Given the description of an element on the screen output the (x, y) to click on. 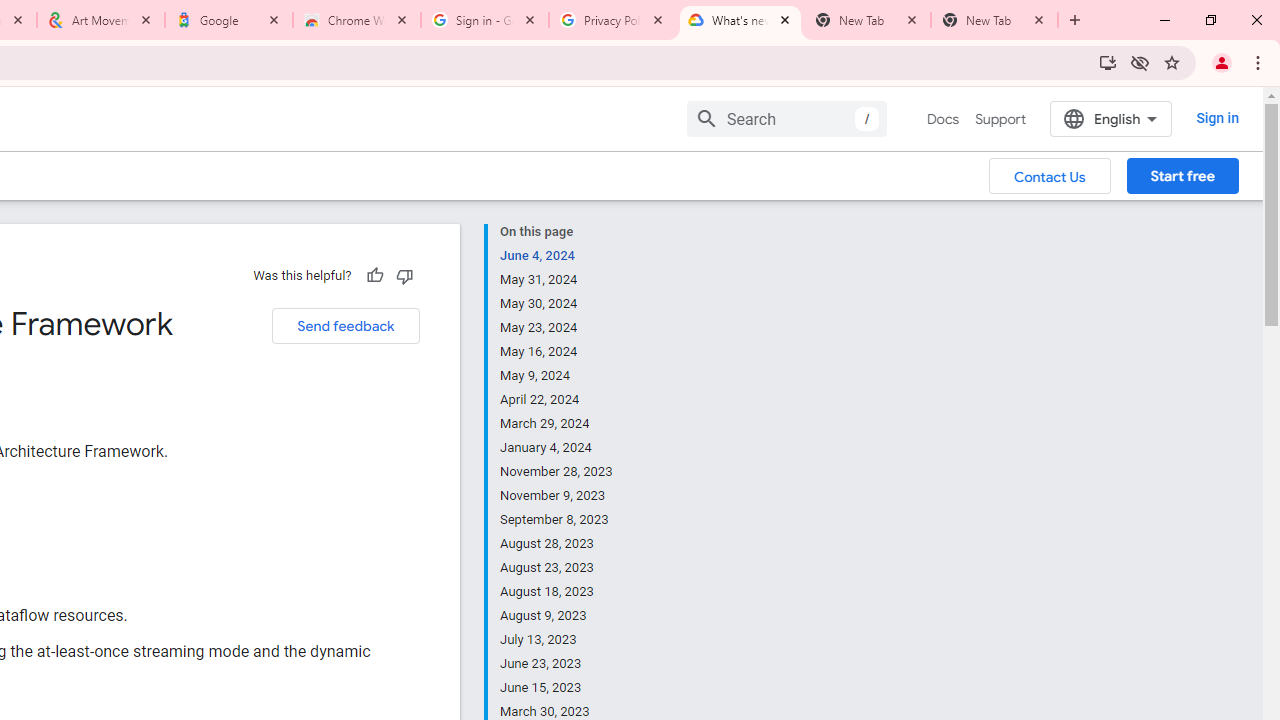
June 4, 2024 (557, 255)
August 28, 2023 (557, 543)
Google (229, 20)
Install Google Cloud (1107, 62)
May 31, 2024 (557, 279)
May 9, 2024 (557, 376)
January 4, 2024 (557, 448)
August 9, 2023 (557, 615)
May 30, 2024 (557, 304)
